Given the description of an element on the screen output the (x, y) to click on. 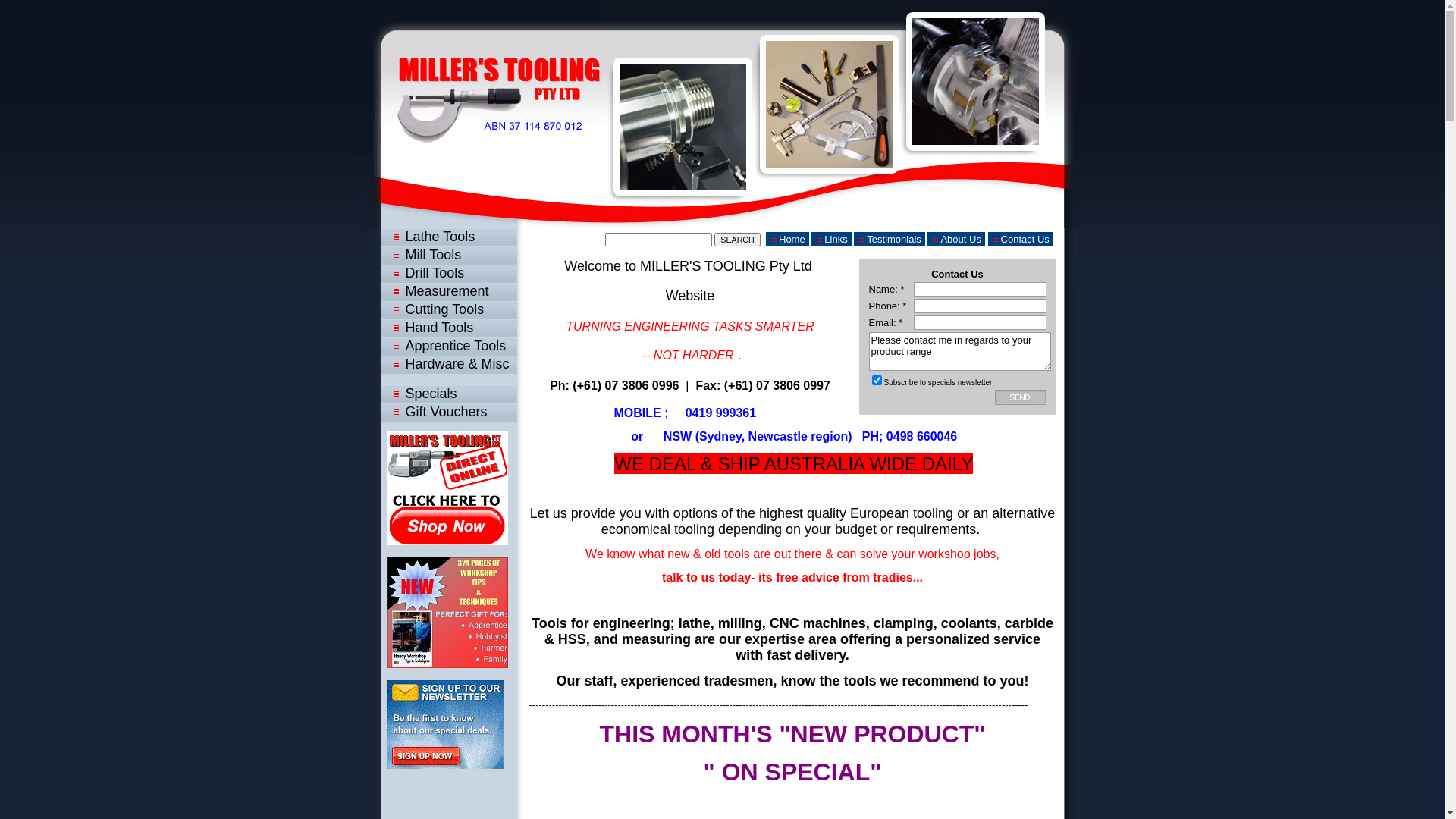
Testimonials Element type: text (889, 239)
Measurement Element type: text (445, 290)
Contact Us Element type: text (1020, 239)
Lathe Tools Element type: text (445, 236)
About Us Element type: text (955, 239)
Drill Tools Element type: text (445, 272)
Gift Vouchers Element type: text (445, 411)
SEARCH Element type: text (736, 239)
Links Element type: text (830, 239)
Apprentice Tools Element type: text (445, 345)
Specials Element type: text (445, 393)
Hardware & Misc Element type: text (445, 363)
Cutting Tools Element type: text (445, 309)
Mill Tools Element type: text (445, 254)
Hand Tools Element type: text (445, 327)
Home Element type: text (787, 239)
